Given the description of an element on the screen output the (x, y) to click on. 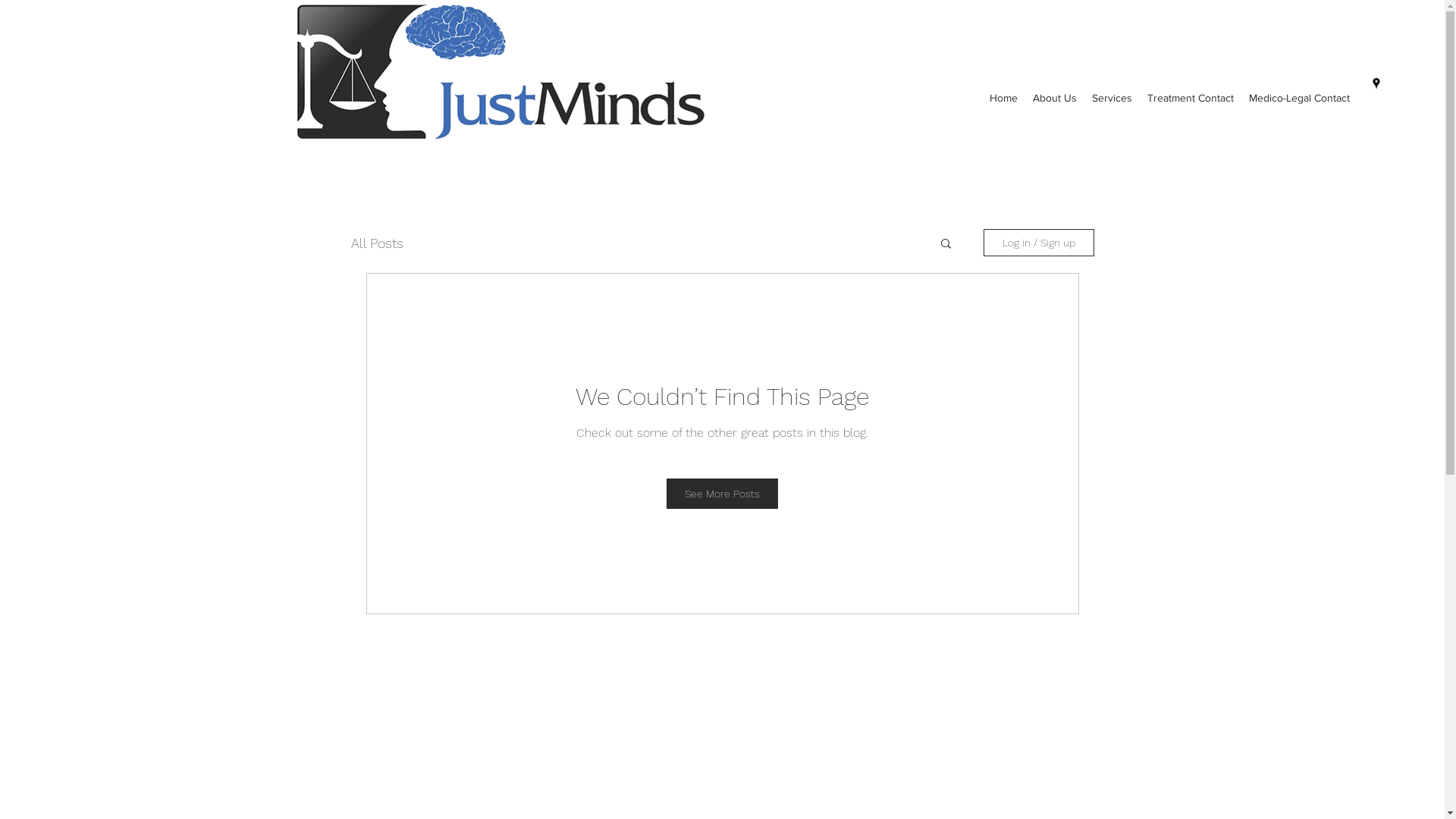
Home Element type: text (1003, 98)
Services Element type: text (1111, 98)
See More Posts Element type: text (722, 493)
Treatment Contact Element type: text (1190, 98)
Medico-Legal Contact Element type: text (1299, 98)
Log in / Sign up Element type: text (1037, 242)
All Posts Element type: text (376, 243)
About Us Element type: text (1054, 98)
